Given the description of an element on the screen output the (x, y) to click on. 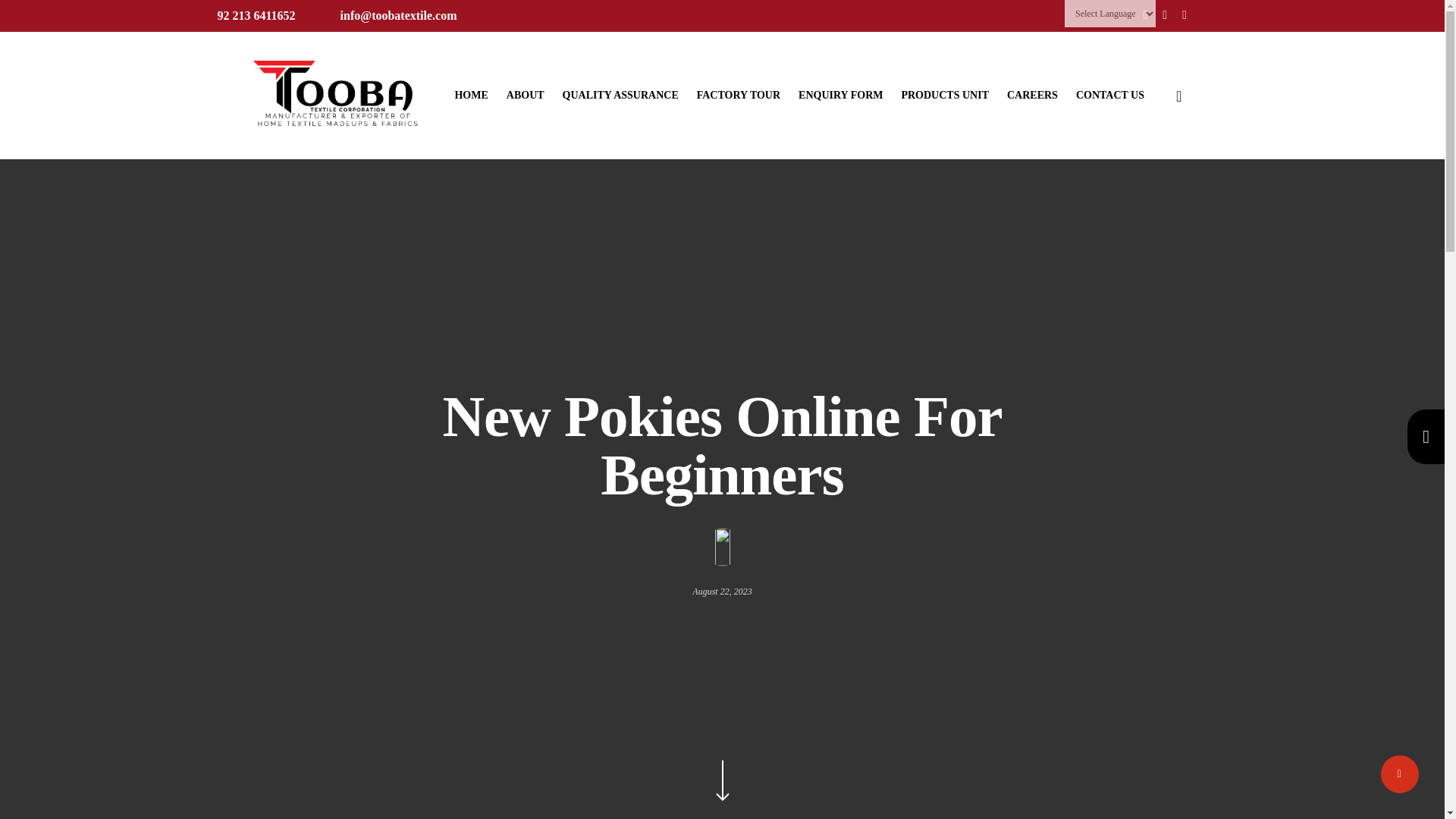
92 213 6411652 (255, 15)
FACTORY TOUR (738, 95)
HOME (470, 95)
ABOUT (525, 95)
QUALITY ASSURANCE (620, 95)
CAREERS (1032, 95)
PRODUCTS UNIT (944, 95)
ENQUIRY FORM (839, 95)
CONTACT US (1109, 95)
